Given the description of an element on the screen output the (x, y) to click on. 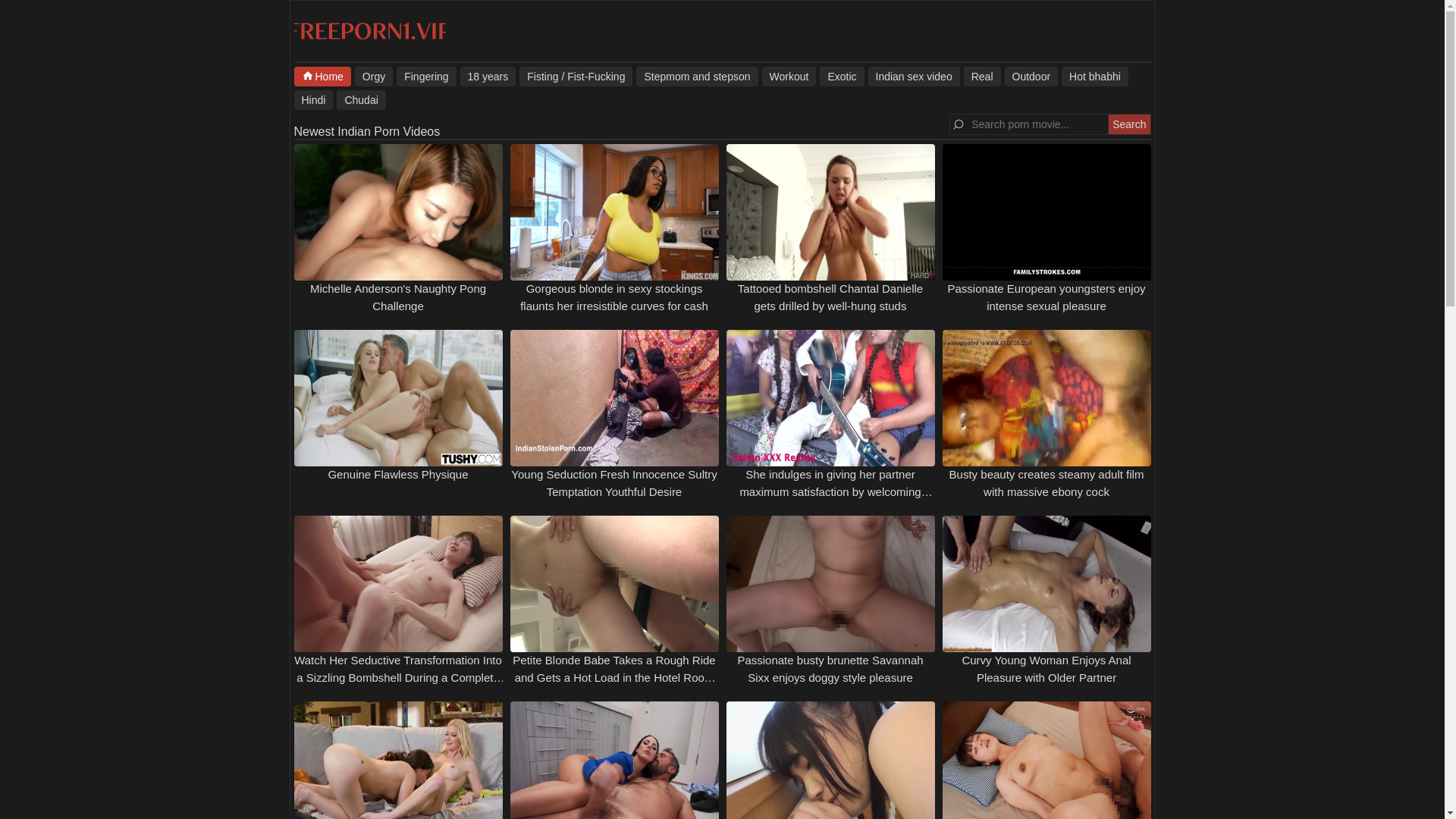
Xem phim sex (367, 131)
Hot bhabhi (1094, 76)
Hindi (313, 99)
Indian sex video (913, 76)
Stepmom and stepson (696, 76)
Exotic (841, 76)
Orgy (374, 76)
Outdoor (1031, 76)
18 years (488, 76)
Indian sex video (913, 76)
Orgy (374, 76)
Exotic (841, 76)
